Given the description of an element on the screen output the (x, y) to click on. 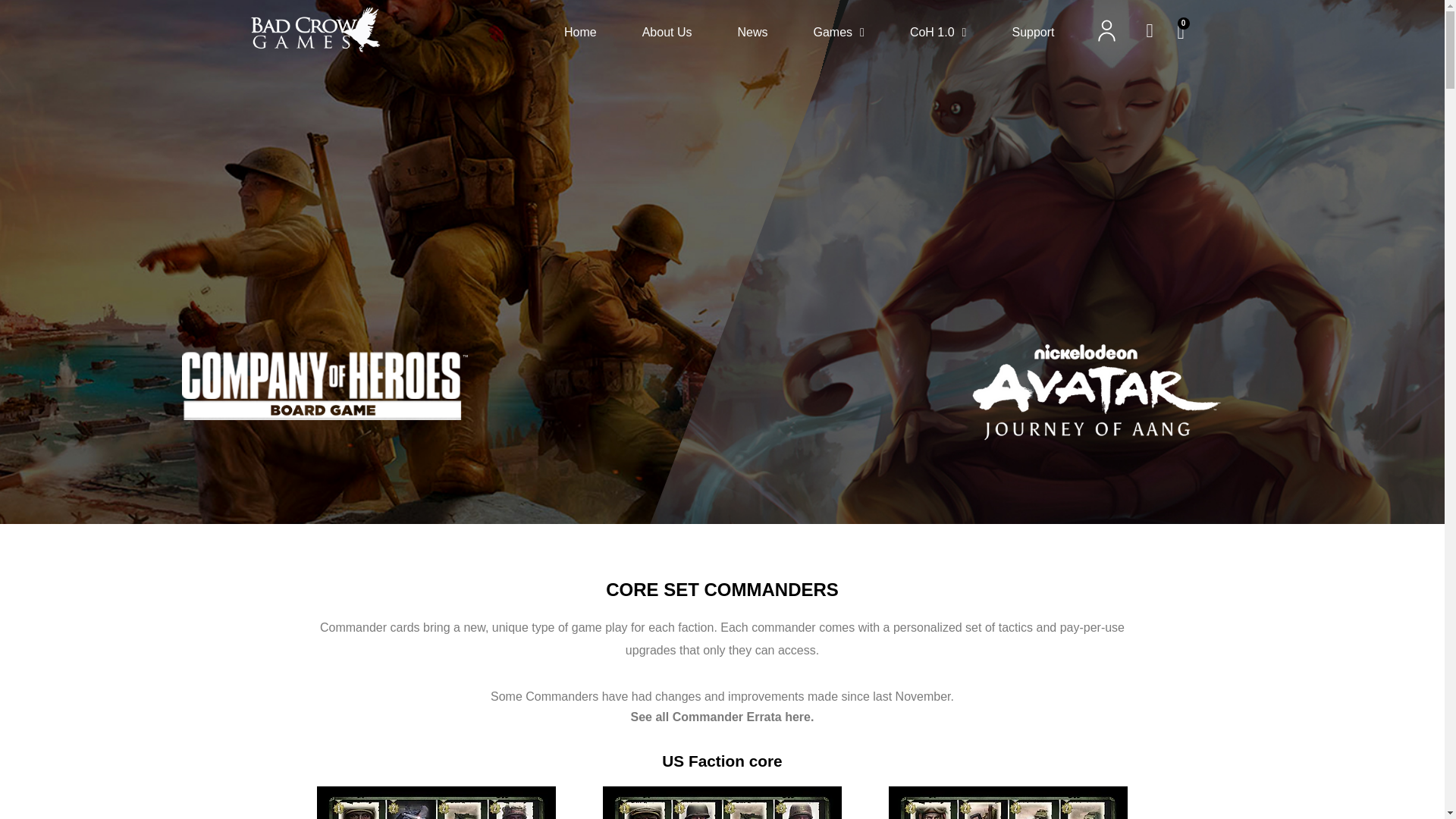
About Us (667, 32)
Home (580, 32)
Games (837, 32)
CoH 1.0 (938, 32)
Support (1032, 32)
